Given the description of an element on the screen output the (x, y) to click on. 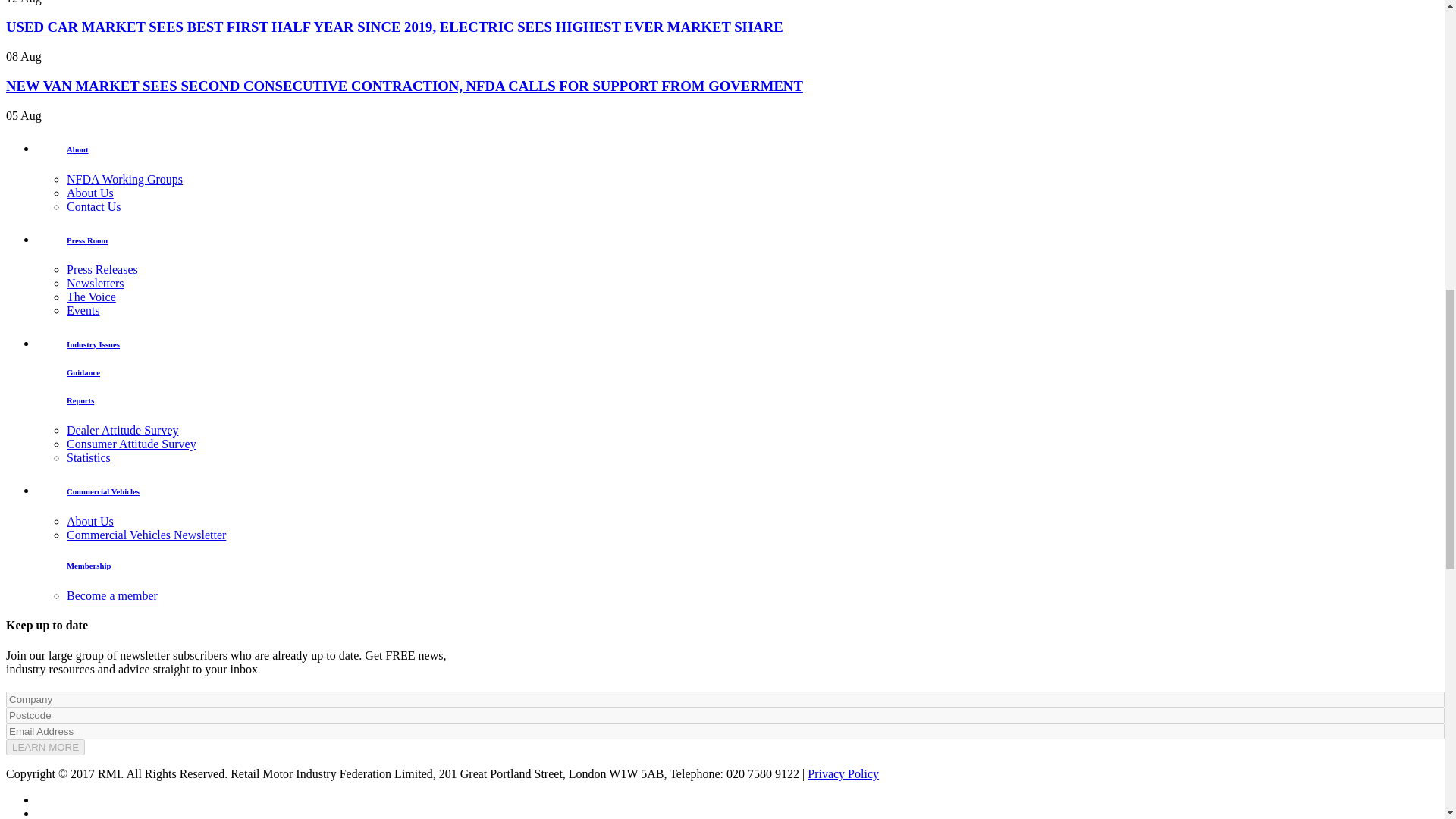
Contact Us (93, 205)
Press Releases (102, 269)
Consumer Attitude Survey (131, 443)
Newsletters (94, 282)
The Voice (91, 296)
Dealer Attitude Survey (122, 430)
About Us (89, 192)
Statistics (88, 457)
NFDA Working Groups (124, 178)
